Given the description of an element on the screen output the (x, y) to click on. 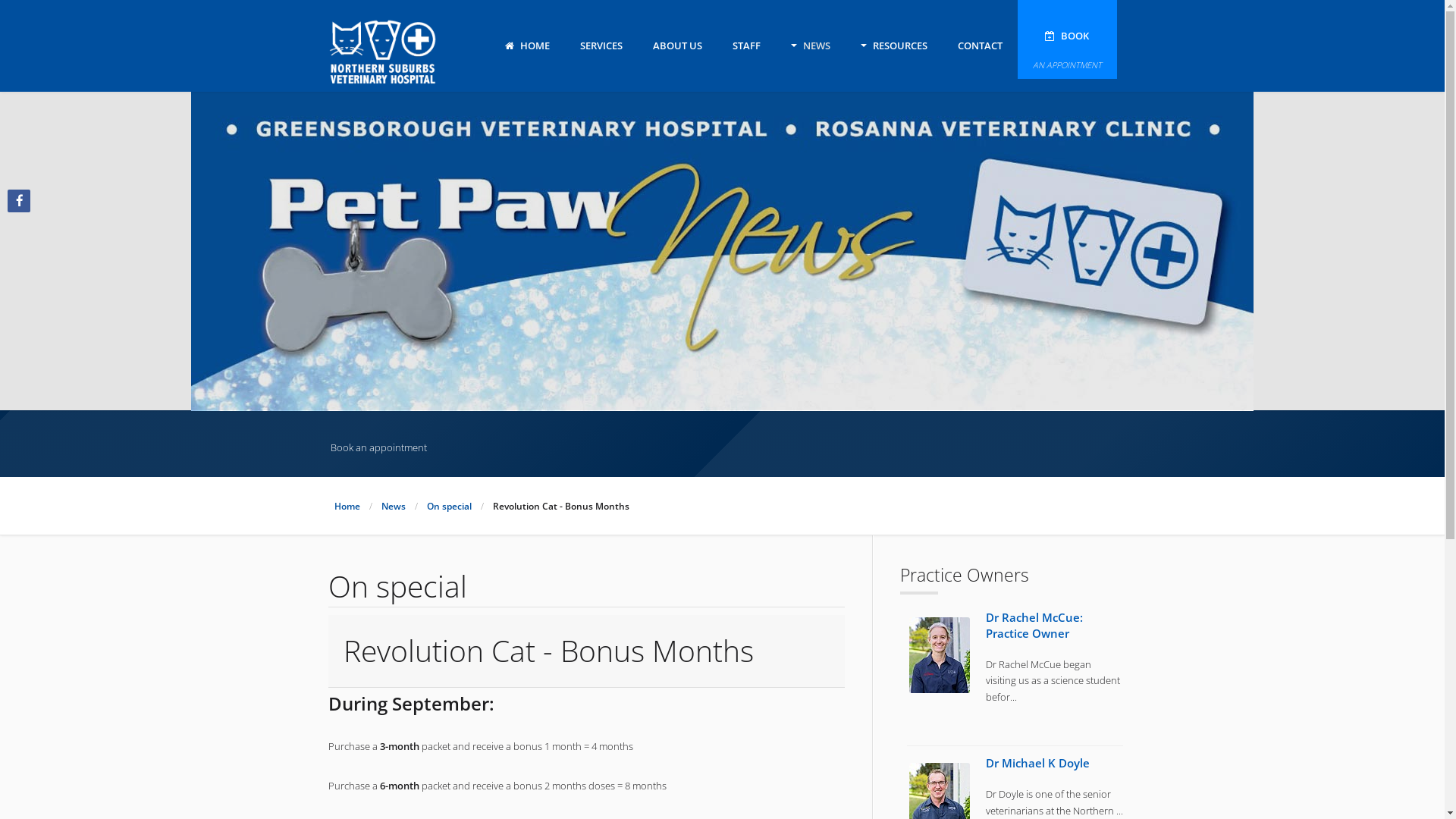
Dr Michael K Doyle Element type: text (1037, 762)
STAFF Element type: text (746, 42)
NEWS Element type: text (809, 42)
SERVICES Element type: text (600, 42)
News Element type: text (392, 505)
Dr Rachel McCue: Practice Owner Element type: text (1033, 624)
CONTACT Element type: text (978, 42)
Home Element type: text (346, 505)
HOME Element type: text (526, 42)
ABOUT US Element type: text (676, 42)
On special Element type: text (448, 505)
